Given the description of an element on the screen output the (x, y) to click on. 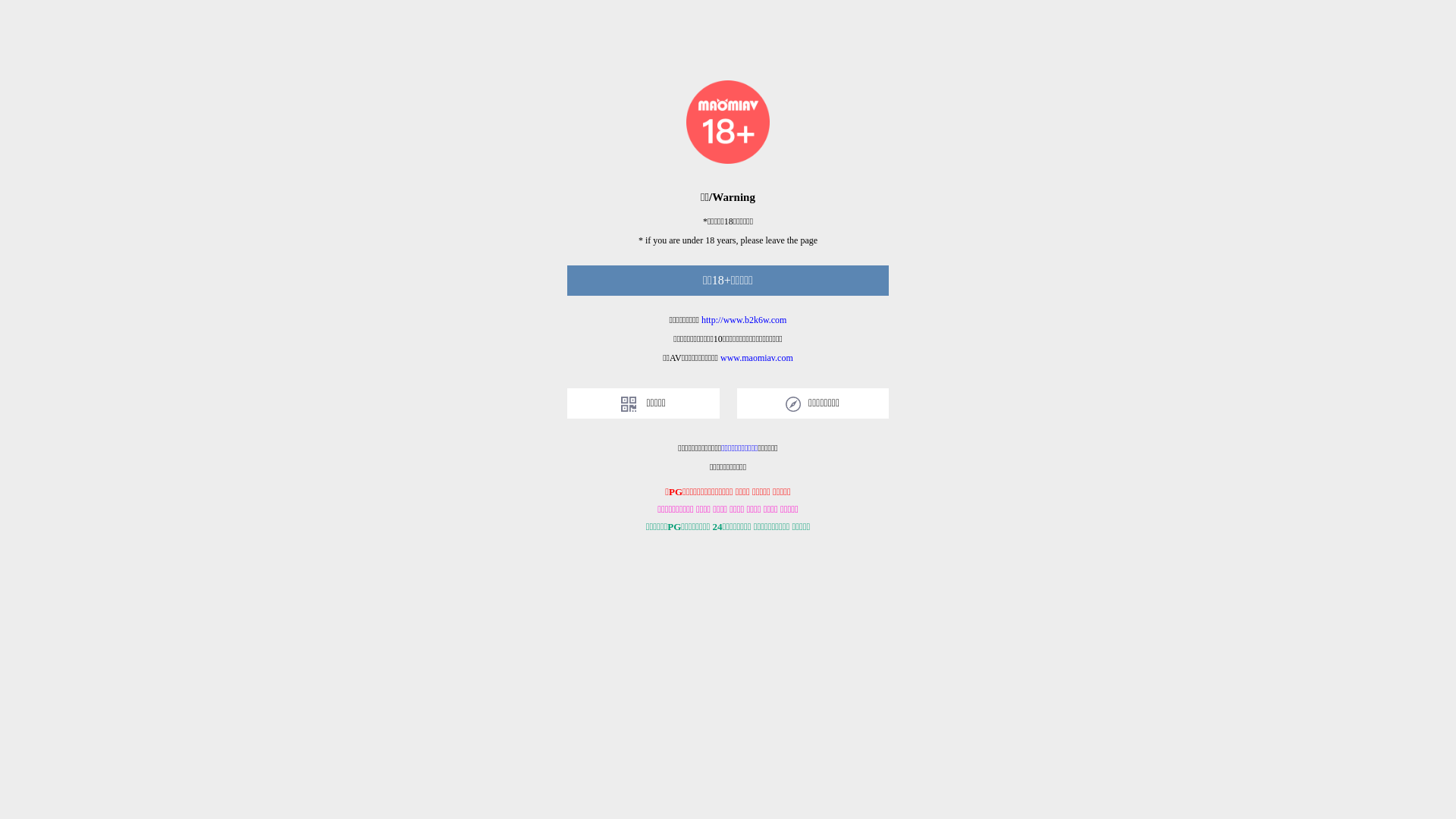
http://www.b2k6w.com Element type: text (743, 319)
www.maomiav.com Element type: text (756, 357)
